Given the description of an element on the screen output the (x, y) to click on. 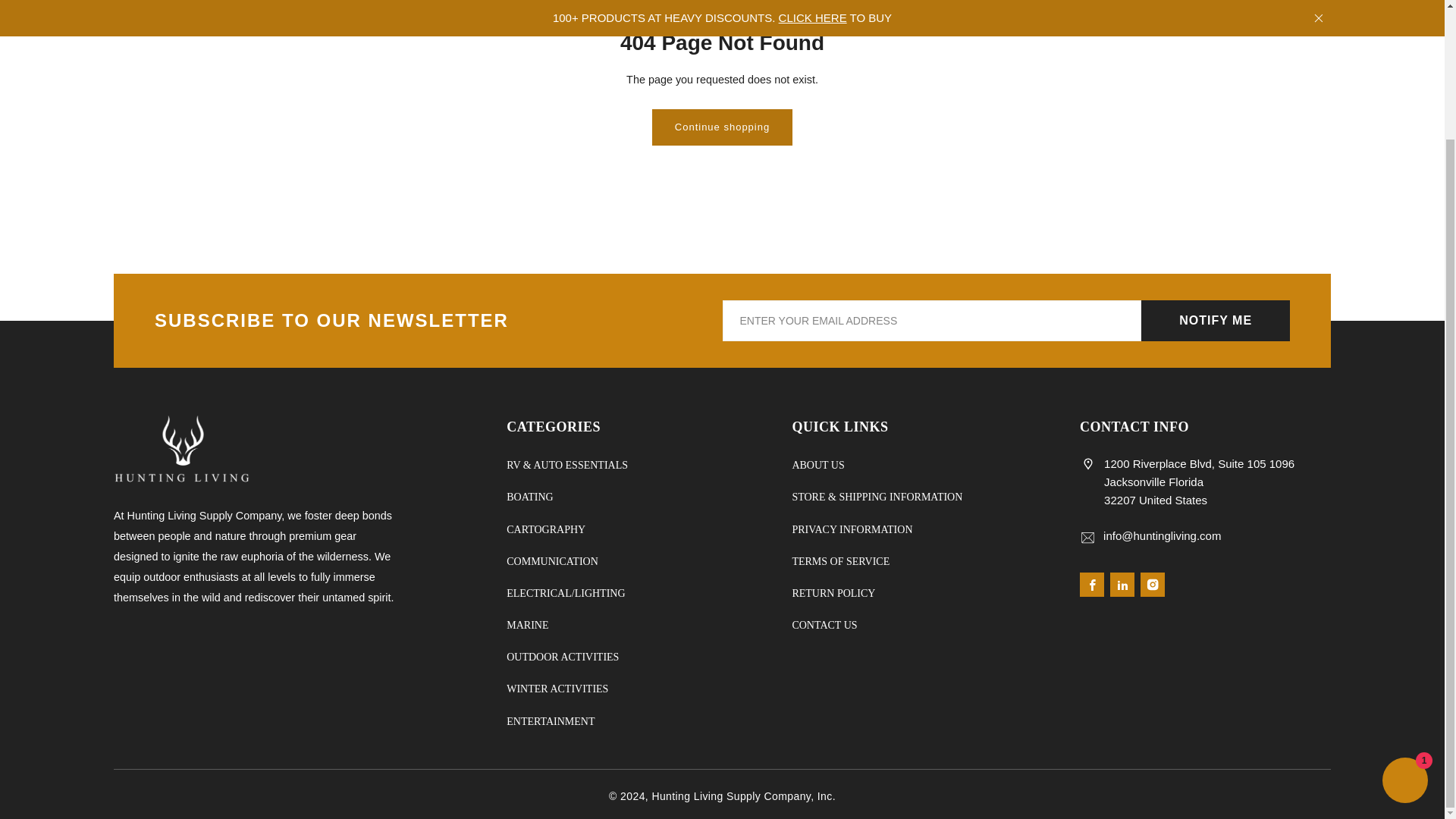
Shopify online store chat (1404, 625)
